Given the description of an element on the screen output the (x, y) to click on. 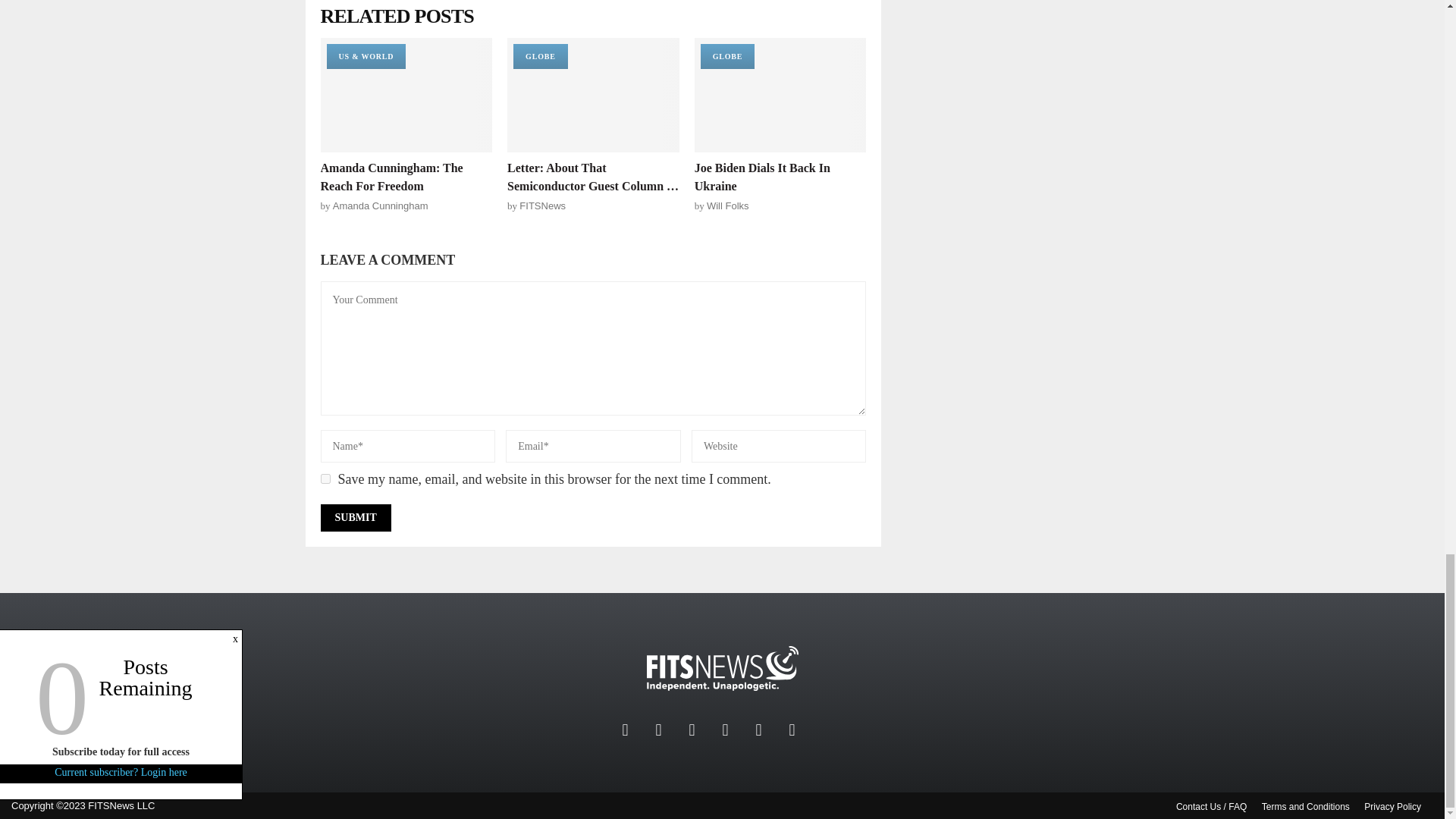
yes (325, 479)
Submit (355, 517)
